Given the description of an element on the screen output the (x, y) to click on. 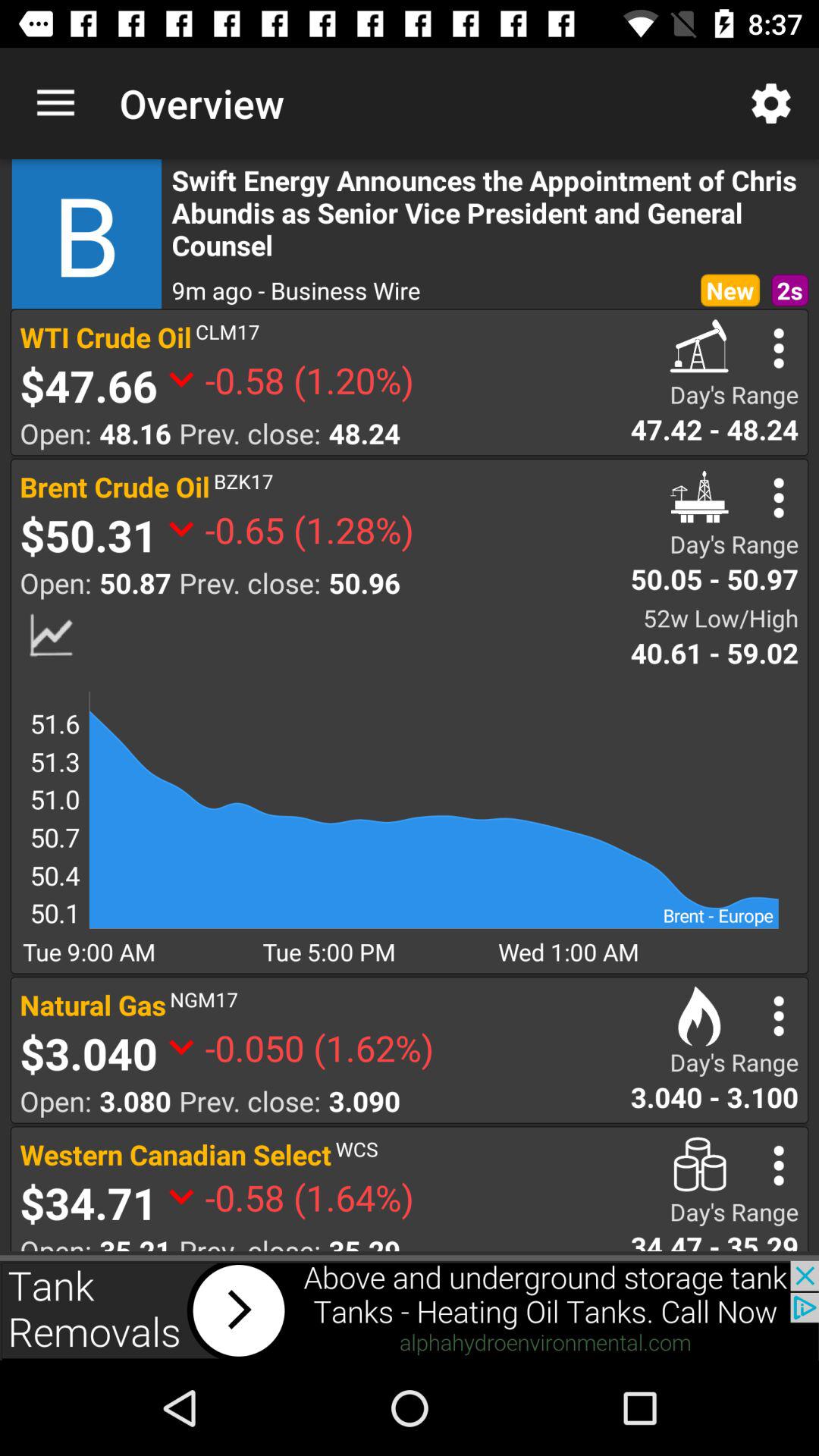
show brent crude oil options (778, 497)
